Given the description of an element on the screen output the (x, y) to click on. 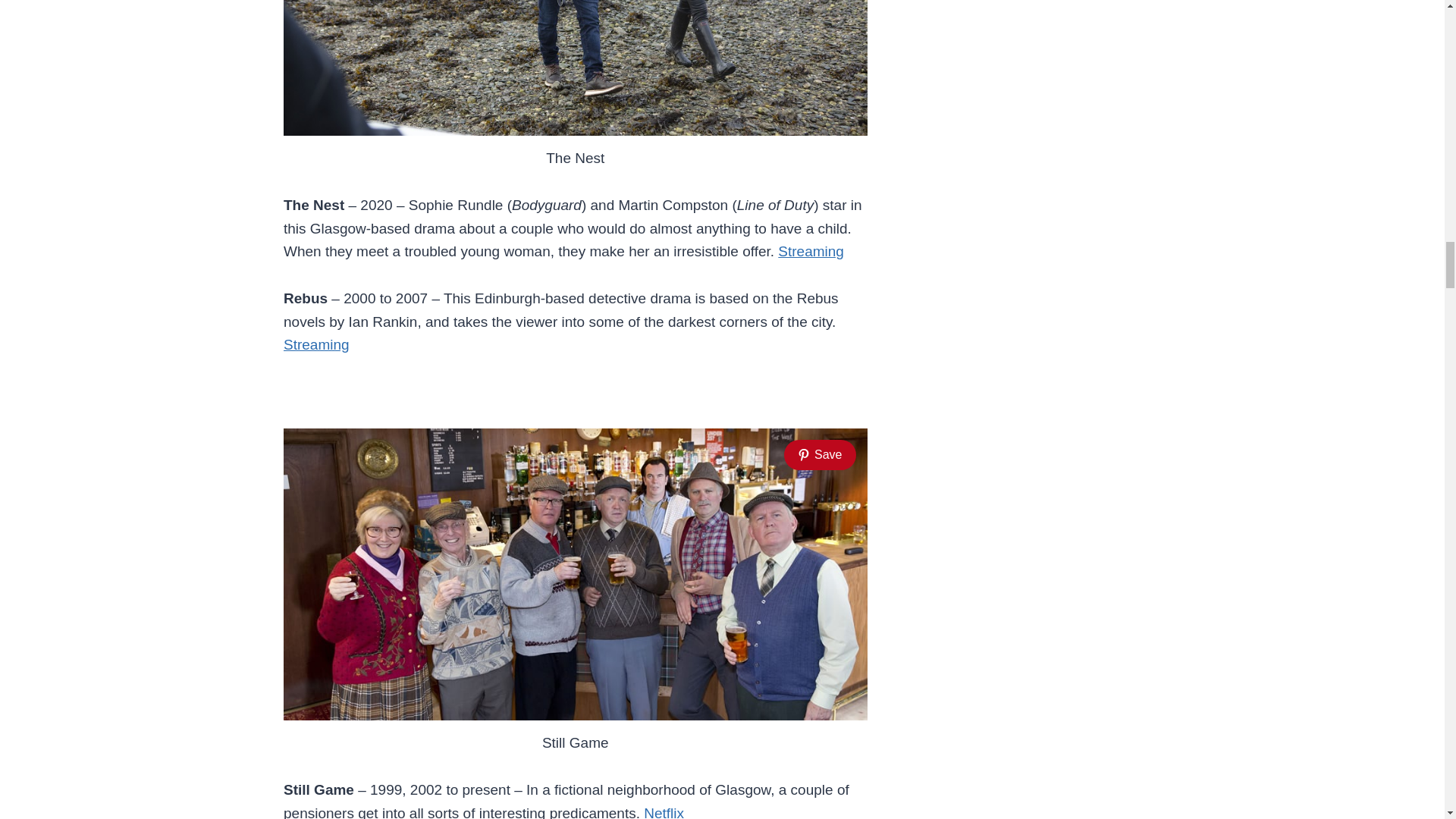
Streaming (810, 251)
Streaming (316, 344)
Netflix (663, 812)
